Given the description of an element on the screen output the (x, y) to click on. 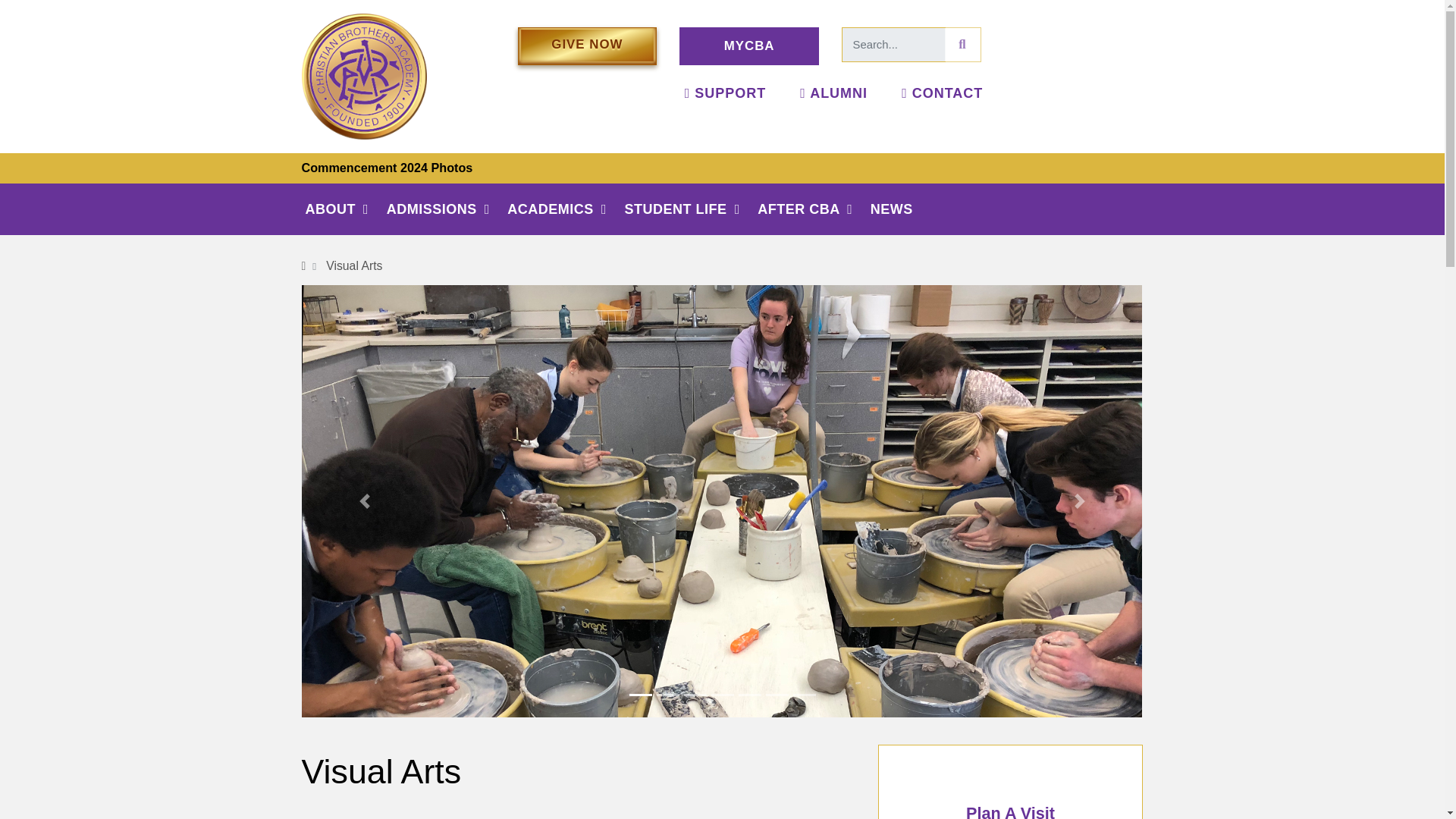
ACADEMICS (565, 209)
Support CBA (725, 92)
SUPPORT (725, 92)
CONTACT (941, 92)
ALUMNI (833, 92)
GIVE NOW (586, 46)
Commencement 2024 Photos (387, 167)
ADMISSIONS (447, 209)
Alumni (833, 92)
MYCBA (748, 46)
